Given the description of an element on the screen output the (x, y) to click on. 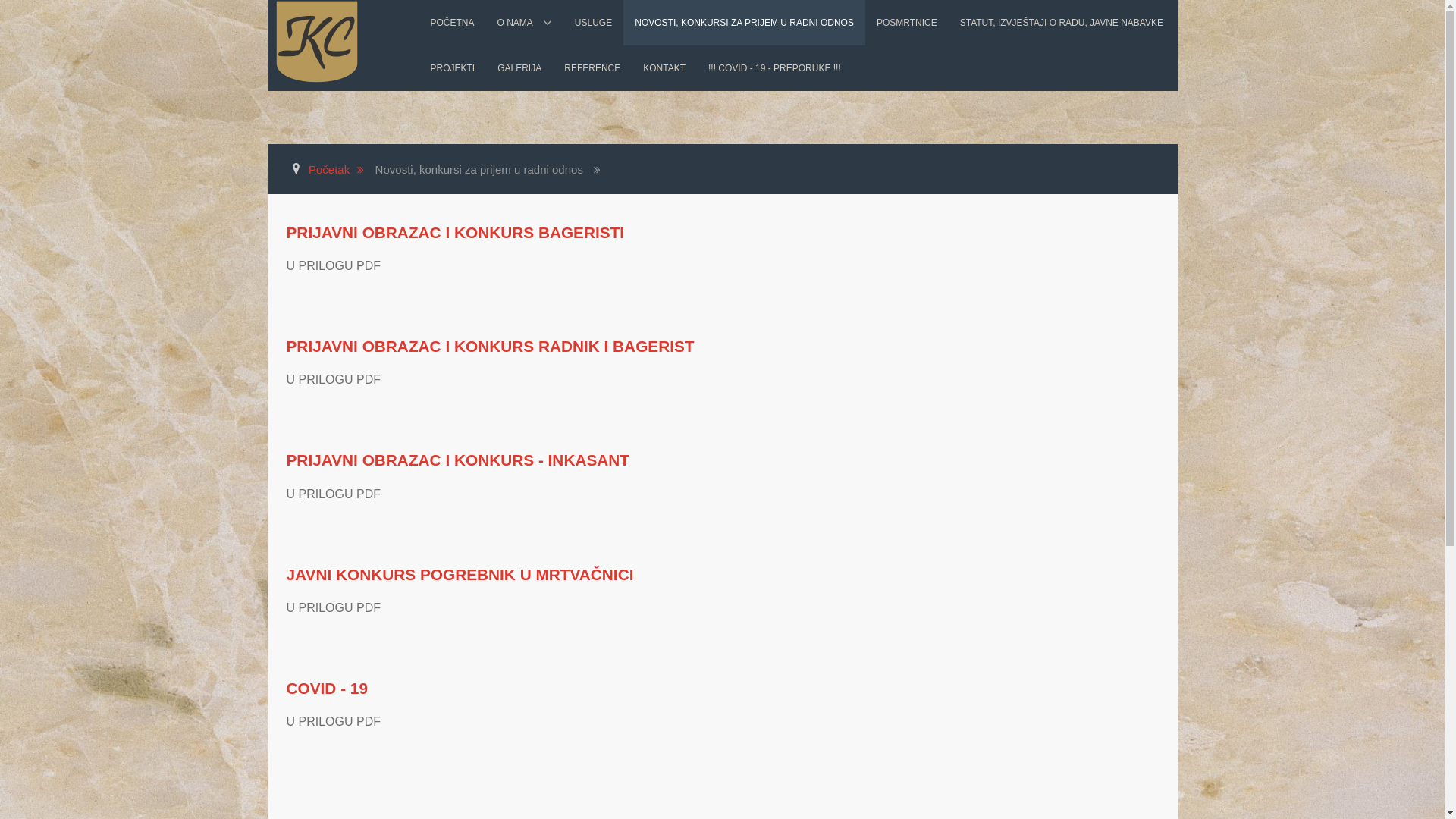
!!! COVID - 19 - PREPORUKE !!! Element type: text (774, 68)
POSMRTNICE Element type: text (906, 22)
REFERENCE Element type: text (591, 68)
PRIJAVNI OBRAZAC I KONKURS - INKASANT Element type: text (458, 459)
COVID - 19 Element type: text (326, 687)
PRIJAVNI OBRAZAC I KONKURS RADNIK I BAGERIST Element type: text (490, 345)
USLUGE Element type: text (593, 22)
NOVOSTI, KONKURSI ZA PRIJEM U RADNI ODNOS Element type: text (744, 22)
PROJEKTI Element type: text (452, 68)
PRIJAVNI OBRAZAC I KONKURS BAGERISTI Element type: text (455, 232)
O NAMA Element type: text (524, 22)
GALERIJA Element type: text (519, 68)
KONTAKT Element type: text (663, 68)
